Given the description of an element on the screen output the (x, y) to click on. 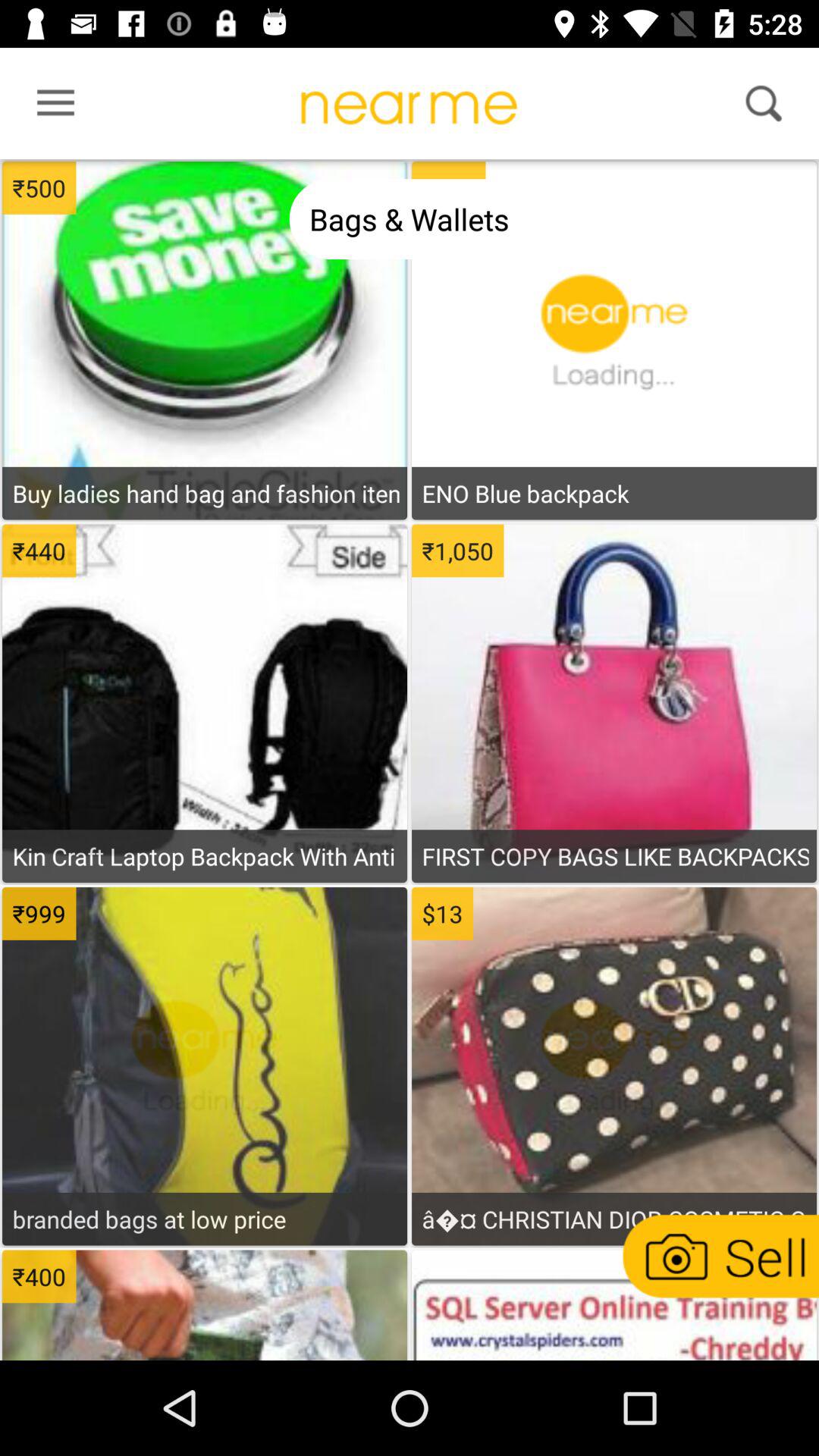
sell your photos (719, 1255)
